Given the description of an element on the screen output the (x, y) to click on. 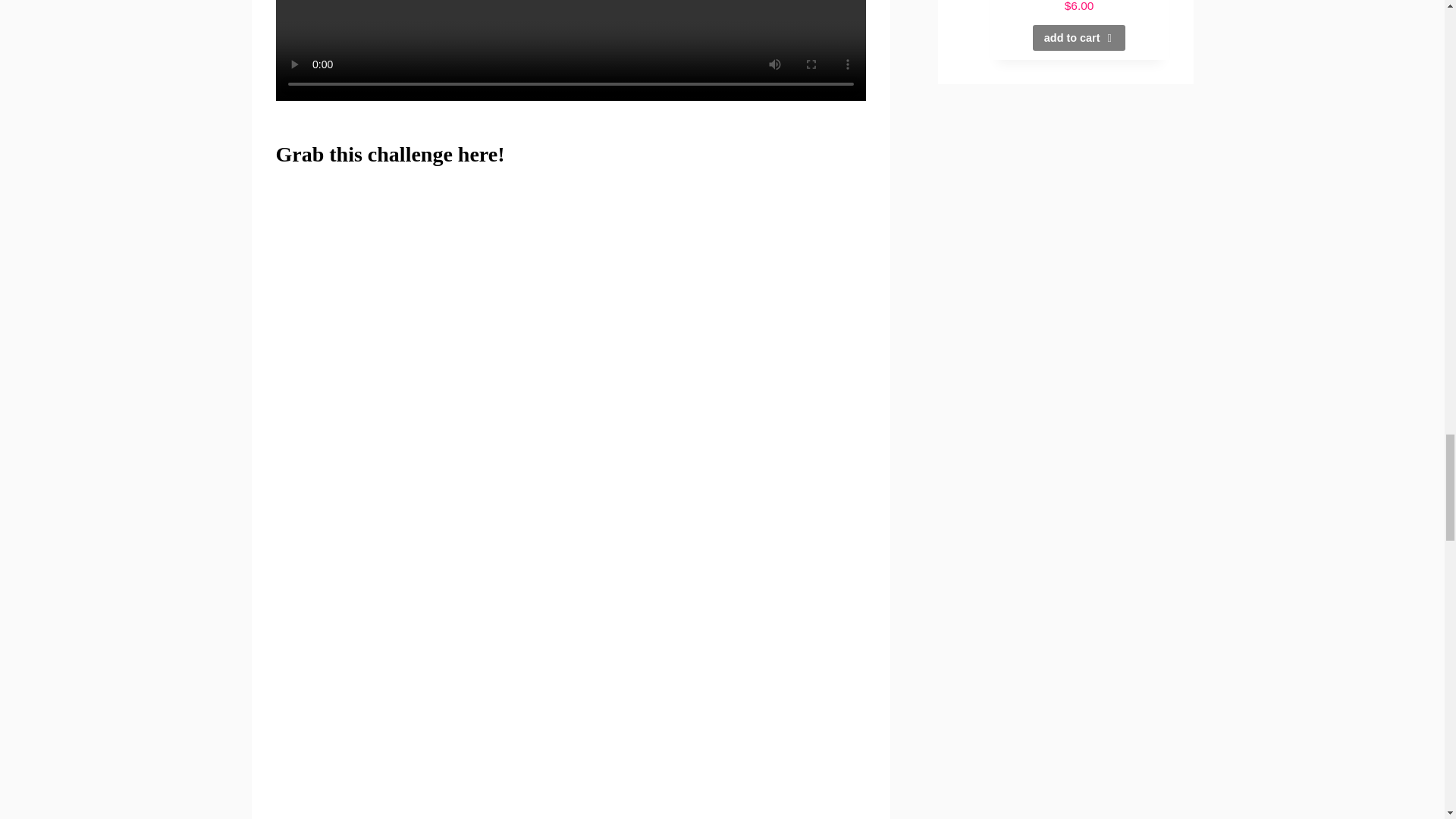
Grab this challenge here!  (393, 154)
